Given the description of an element on the screen output the (x, y) to click on. 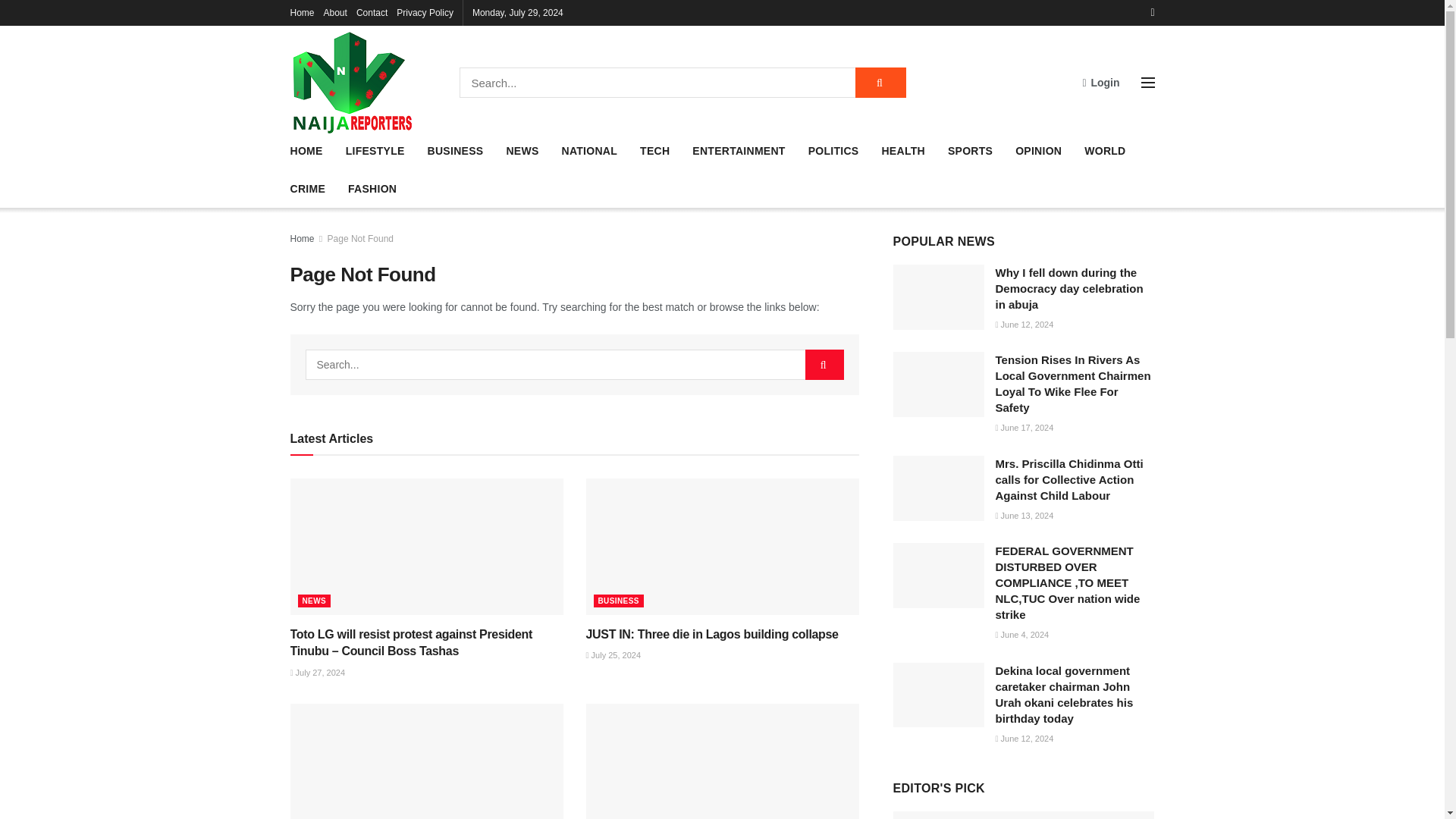
Login (1100, 82)
ENTERTAINMENT (738, 150)
About (335, 12)
LIFESTYLE (375, 150)
FASHION (371, 188)
OPINION (1037, 150)
HOME (305, 150)
SPORTS (969, 150)
Contact (371, 12)
POLITICS (833, 150)
CRIME (306, 188)
HEALTH (902, 150)
Privacy Policy (424, 12)
NEWS (521, 150)
TECH (654, 150)
